Given the description of an element on the screen output the (x, y) to click on. 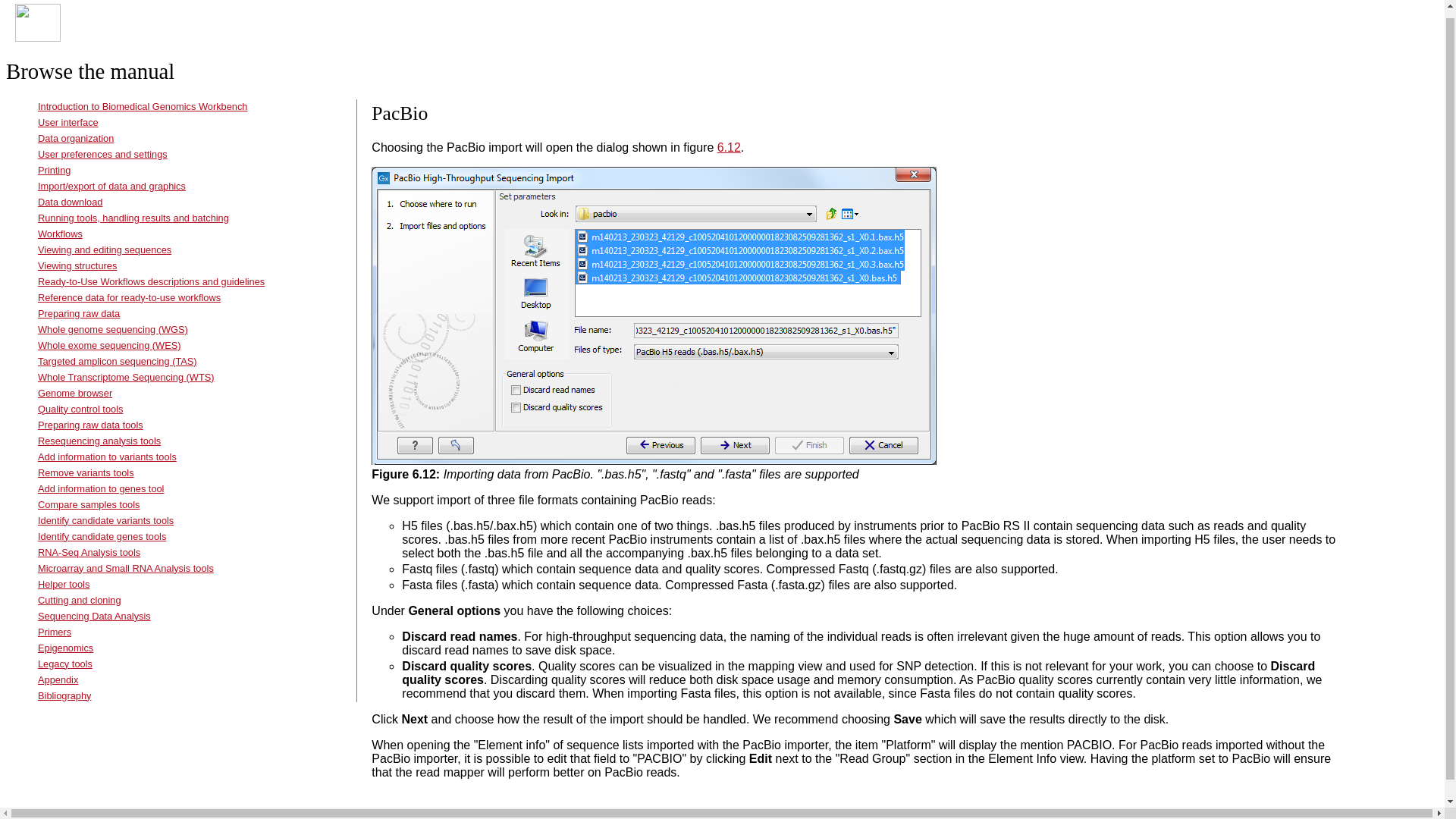
Introduction to Biomedical Genomics Workbench (142, 106)
Manuals (83, 28)
User interface (68, 122)
